Given the description of an element on the screen output the (x, y) to click on. 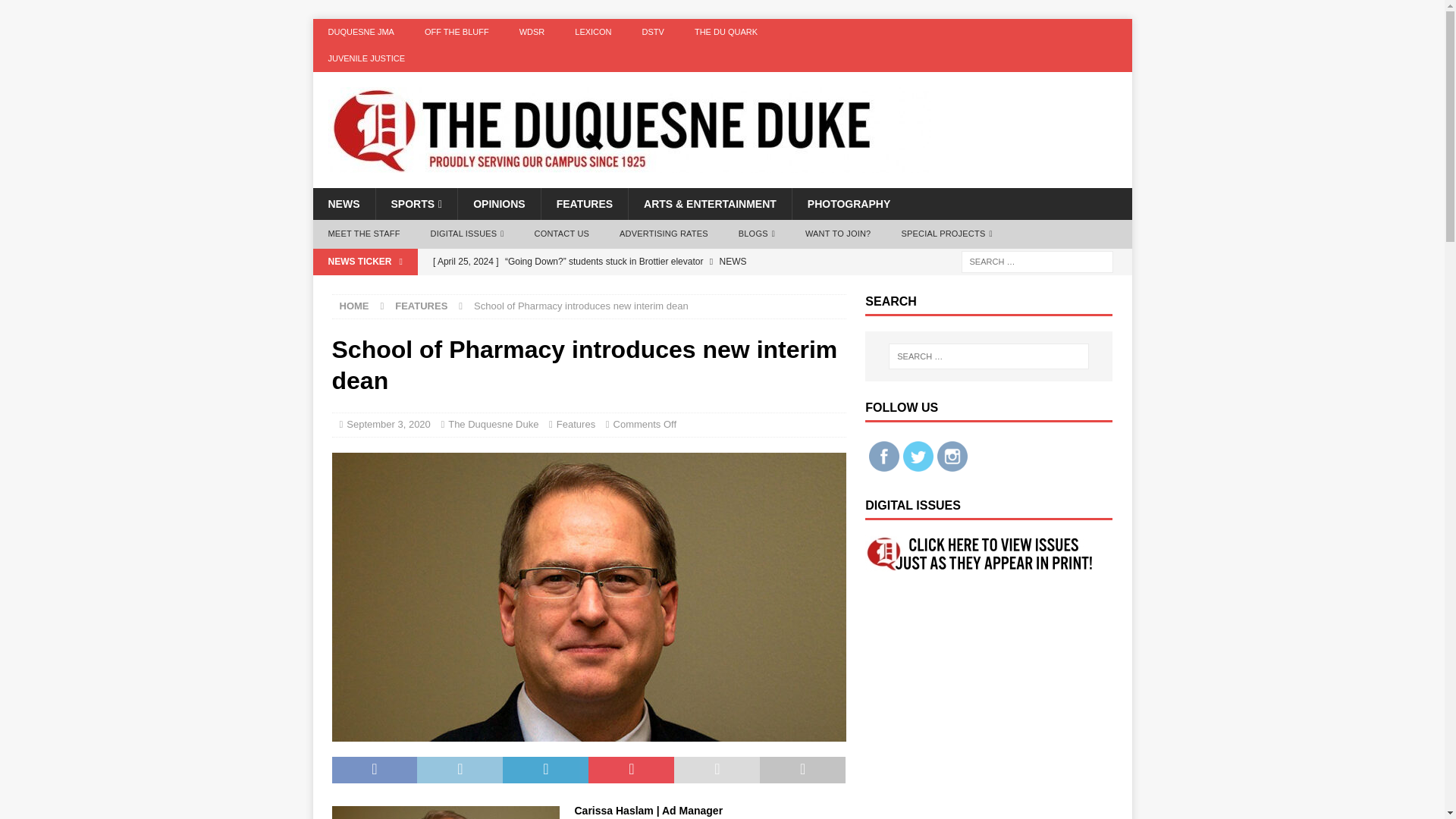
OPINIONS (498, 204)
MEET THE STAFF (363, 234)
Bella says bye: Features editor graduates (634, 287)
BLOGS (756, 234)
LEXICON (592, 31)
ADVERTISING RATES (663, 234)
DIGITAL ISSUES (466, 234)
OFF THE BLUFF (456, 31)
SPORTS (415, 204)
NEWS (343, 204)
